Given the description of an element on the screen output the (x, y) to click on. 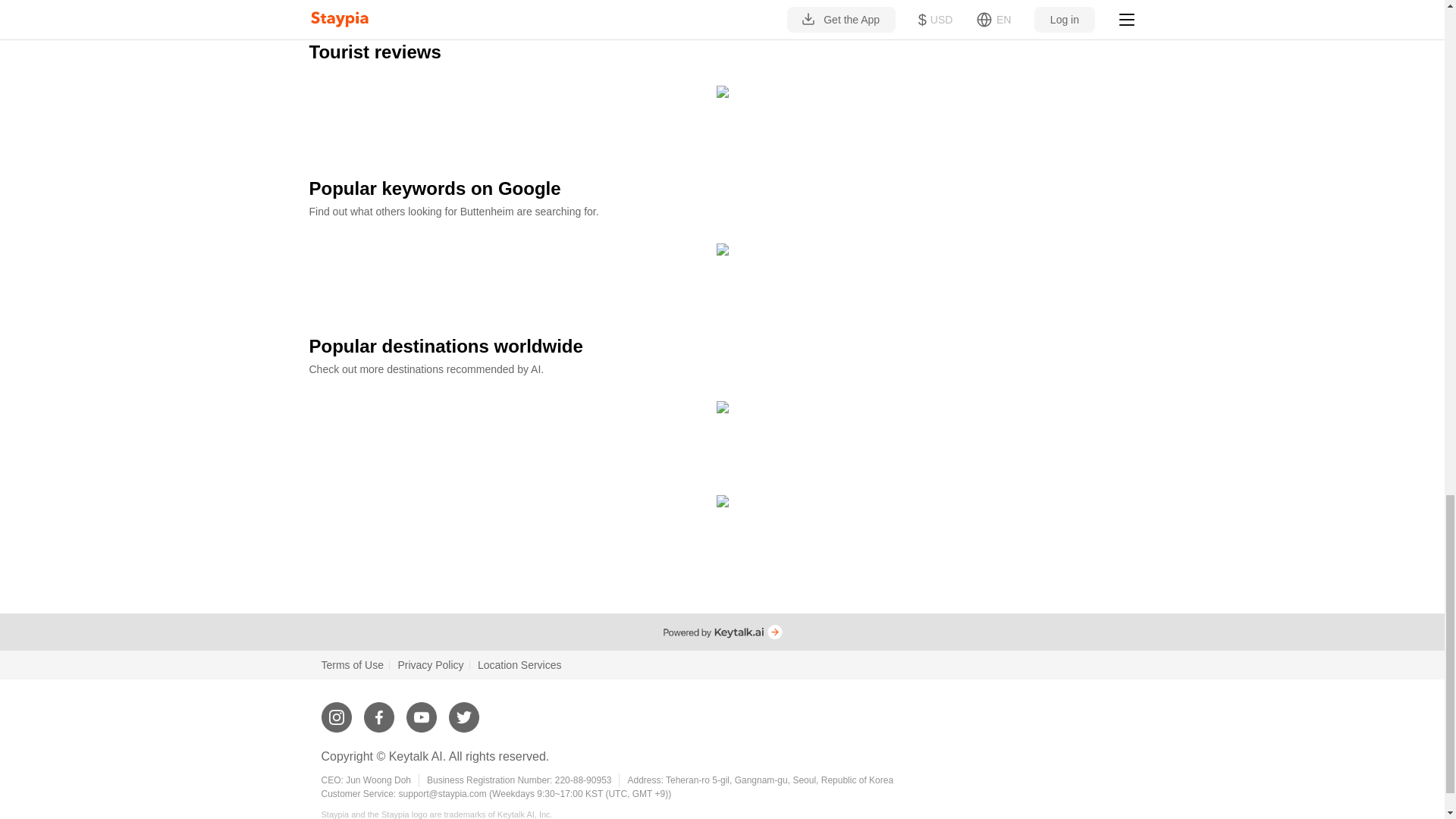
Privacy Policy (430, 664)
youtube (421, 710)
facebook (379, 710)
instagram (336, 710)
twitter (463, 710)
Location Services (519, 664)
Terms of Use (352, 664)
